Given the description of an element on the screen output the (x, y) to click on. 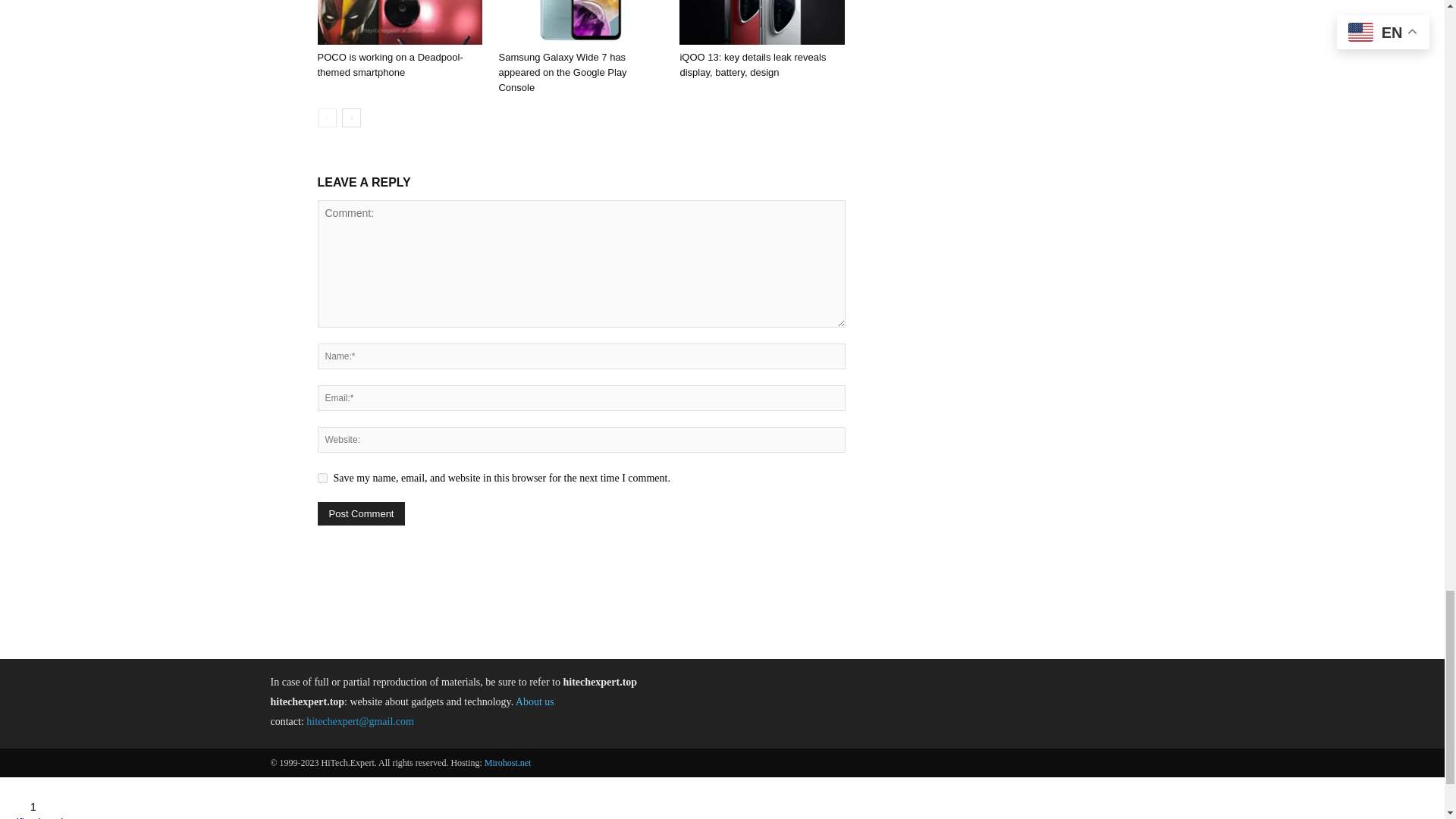
Post Comment (360, 513)
yes (321, 478)
